Given the description of an element on the screen output the (x, y) to click on. 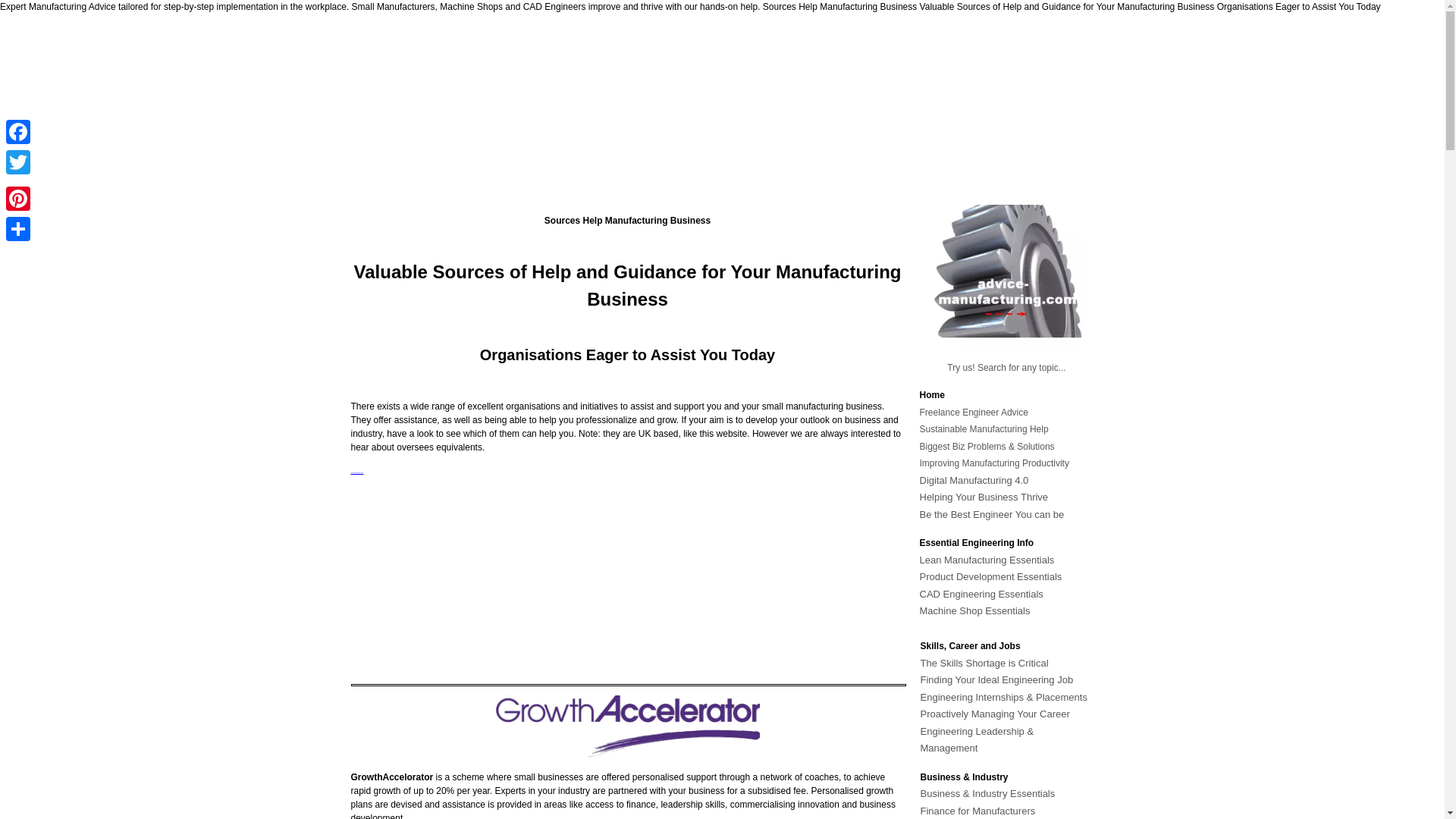
Freelance Engineer (958, 411)
